Given the description of an element on the screen output the (x, y) to click on. 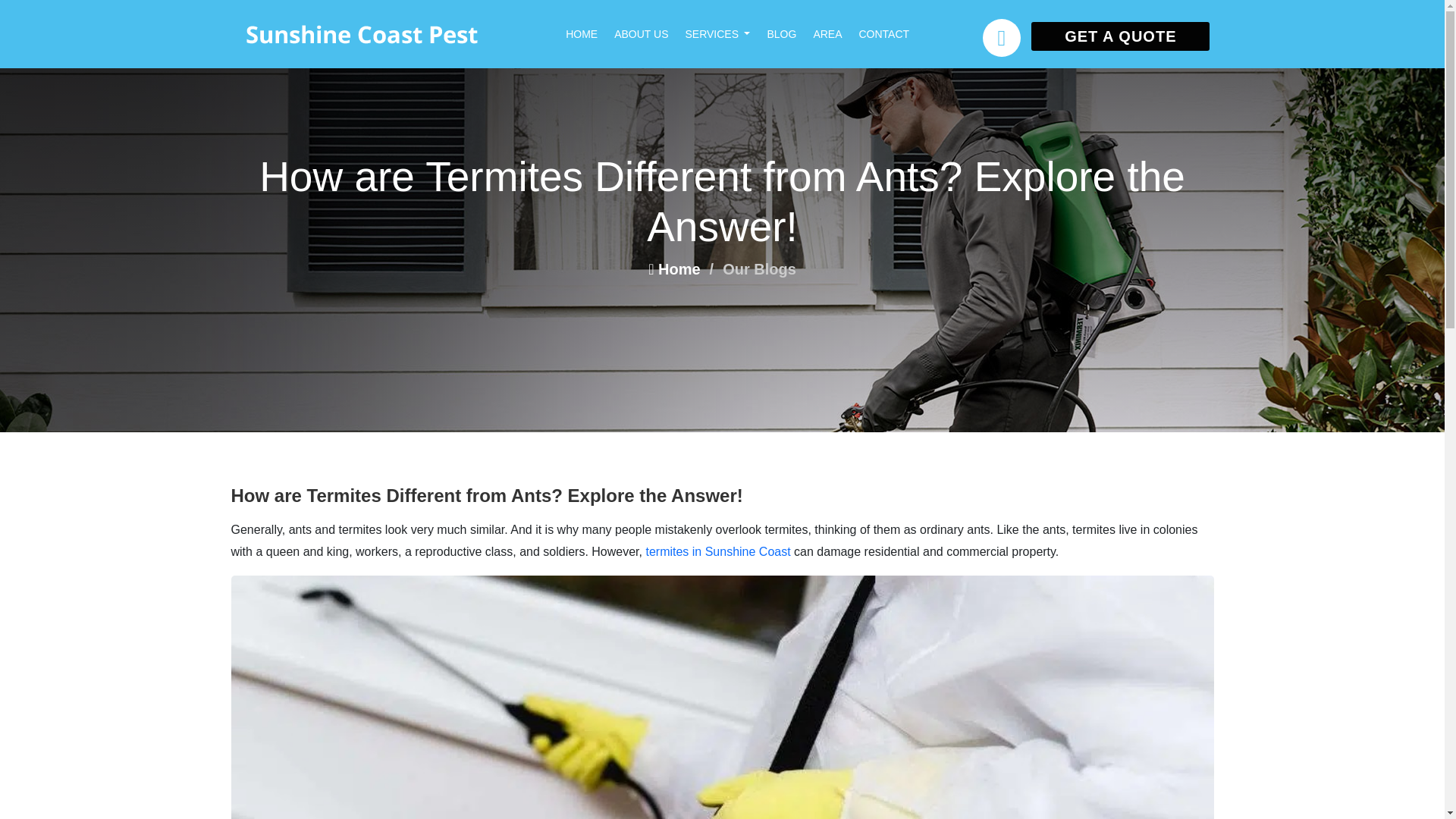
HOME (590, 33)
AREA (835, 33)
HOME (590, 33)
BLOG (789, 33)
How are Termites Different from Ants? Explore the Answer! (486, 495)
GET A QUOTE (1119, 36)
CONTACT (892, 33)
CONTACT (892, 33)
SERVICES (725, 33)
SERVICES (725, 33)
Home (673, 269)
termites in Sunshine Coast (717, 551)
BLOG (789, 33)
ABOUT US (649, 33)
ABOUT US (649, 33)
